Given the description of an element on the screen output the (x, y) to click on. 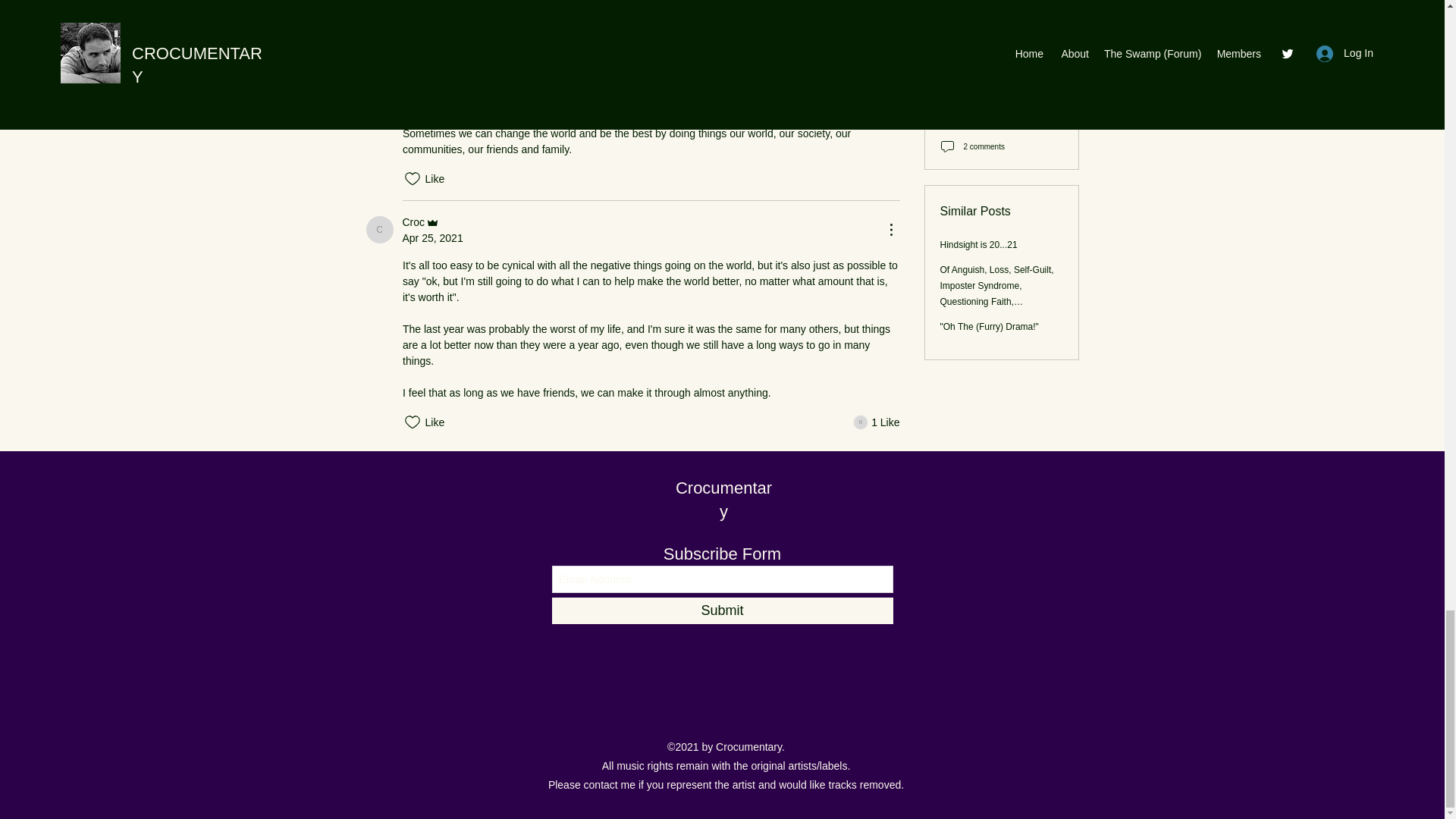
Beastly Drohan (860, 421)
Write a comment... (632, 10)
Croc (421, 221)
Crocumentary (876, 421)
B (723, 499)
Croc (379, 83)
Beastly Drohan (379, 229)
Submit (437, 76)
Beastly Drohan (722, 610)
C (471, 48)
